Given the description of an element on the screen output the (x, y) to click on. 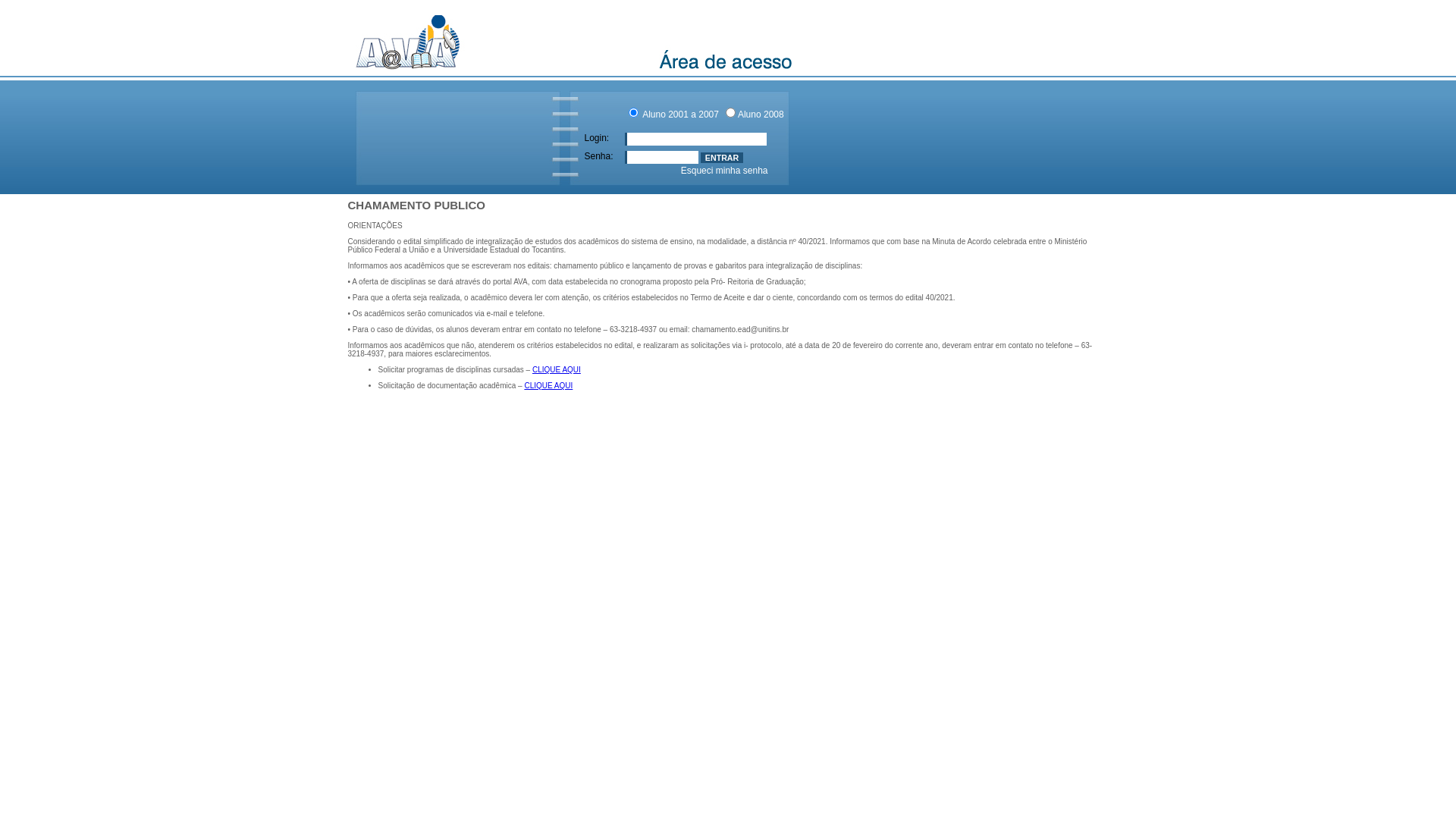
ENTRAR Element type: text (721, 157)
2 Element type: text (730, 112)
Entrar Element type: hover (721, 157)
CLIQUE AQUI Element type: text (556, 369)
CLIQUE AQUI Element type: text (548, 385)
Esqueci minha senha Element type: text (724, 170)
